Given the description of an element on the screen output the (x, y) to click on. 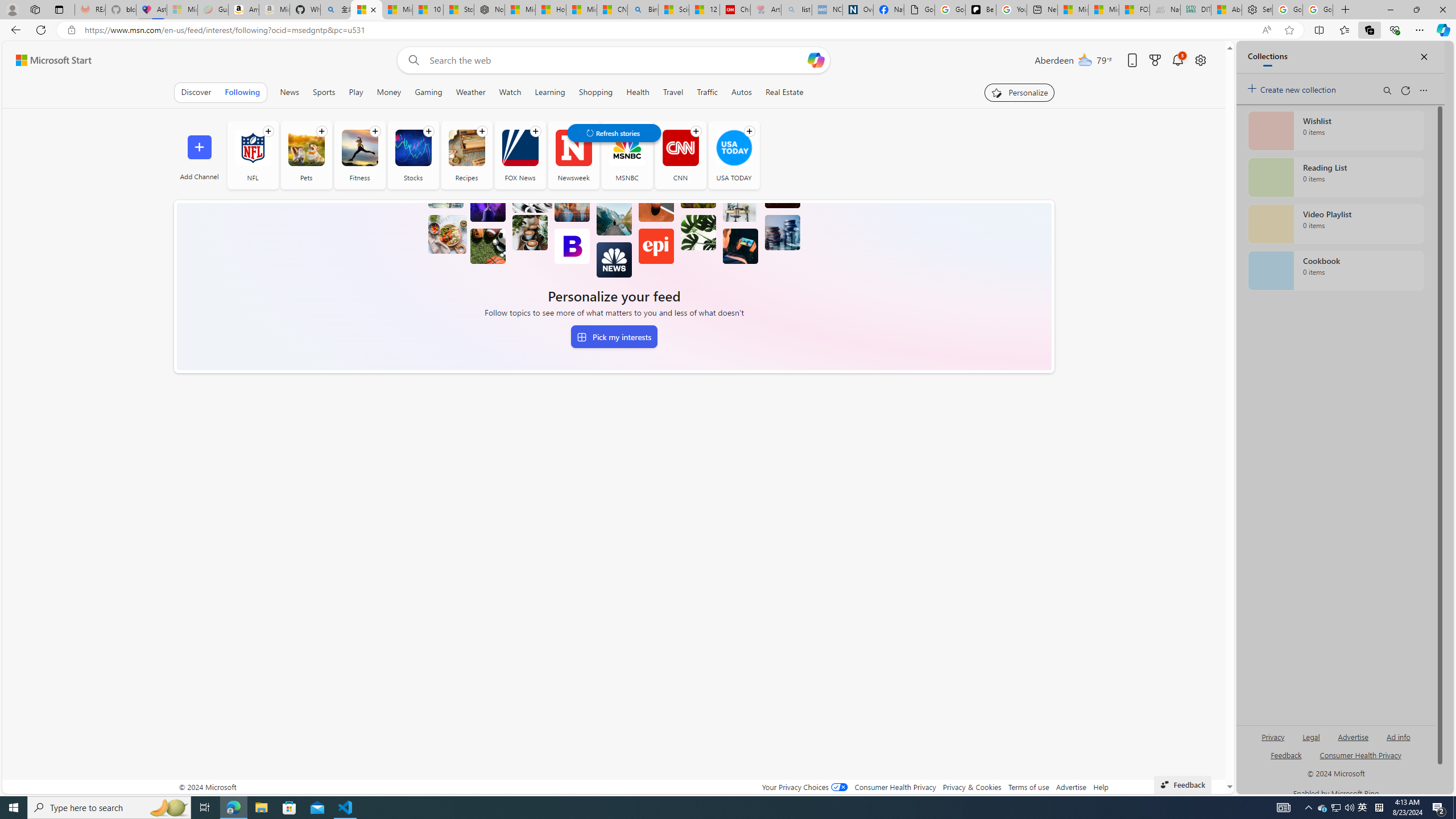
Watch (509, 92)
Skip to footer (46, 59)
Sports (323, 92)
Recipes (466, 155)
MSNBC (626, 147)
Traffic (707, 92)
